Given the description of an element on the screen output the (x, y) to click on. 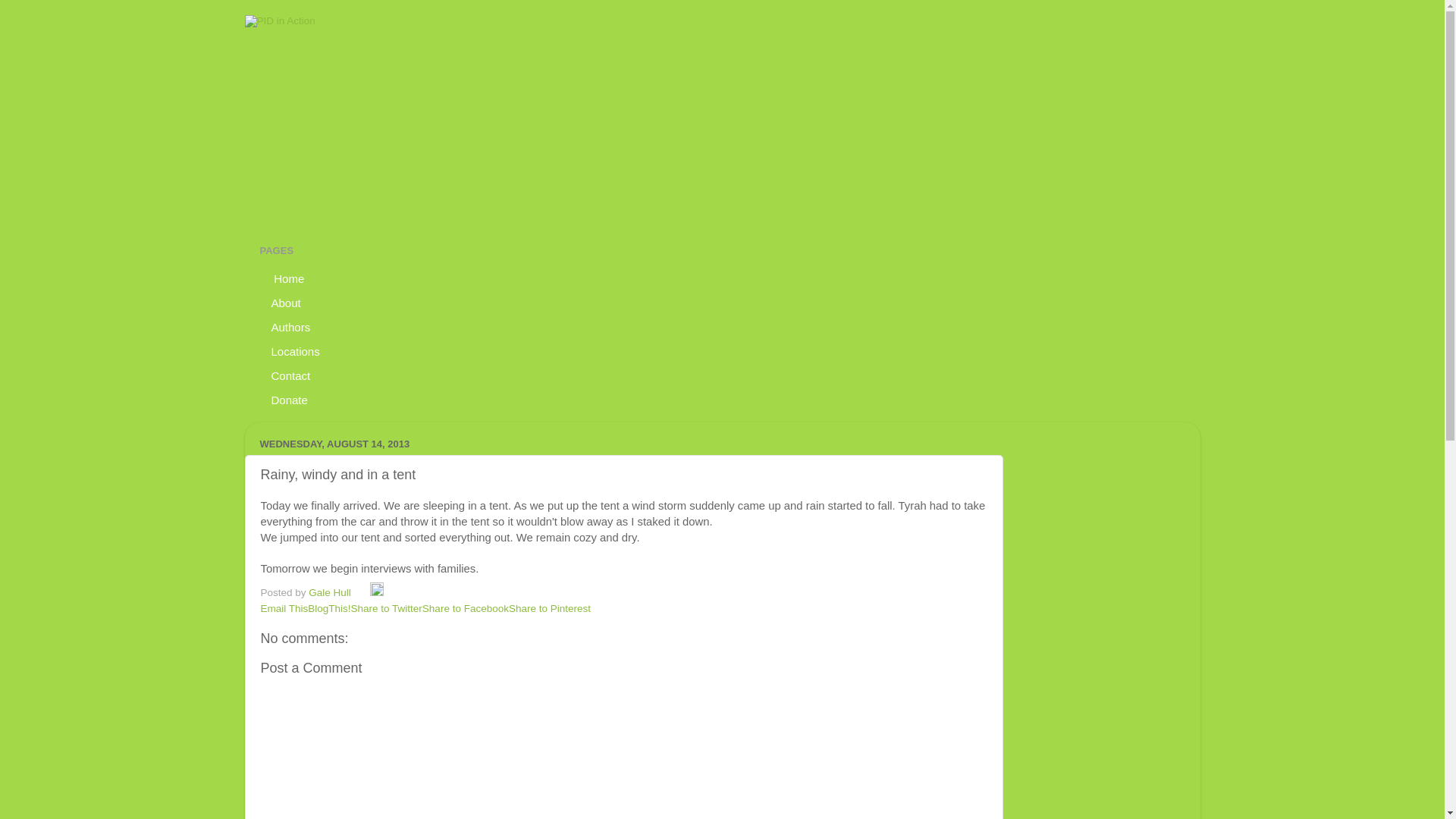
Share to Facebook (465, 608)
Locations (295, 351)
Share to Pinterest (549, 608)
author profile (330, 592)
BlogThis! (328, 608)
Edit Post (376, 592)
Gale Hull (330, 592)
BlogThis! (328, 608)
Email Post (362, 592)
Share to Twitter (386, 608)
Share to Twitter (386, 608)
Home (287, 278)
Donate (288, 399)
Email This (284, 608)
Share to Facebook (465, 608)
